Given the description of an element on the screen output the (x, y) to click on. 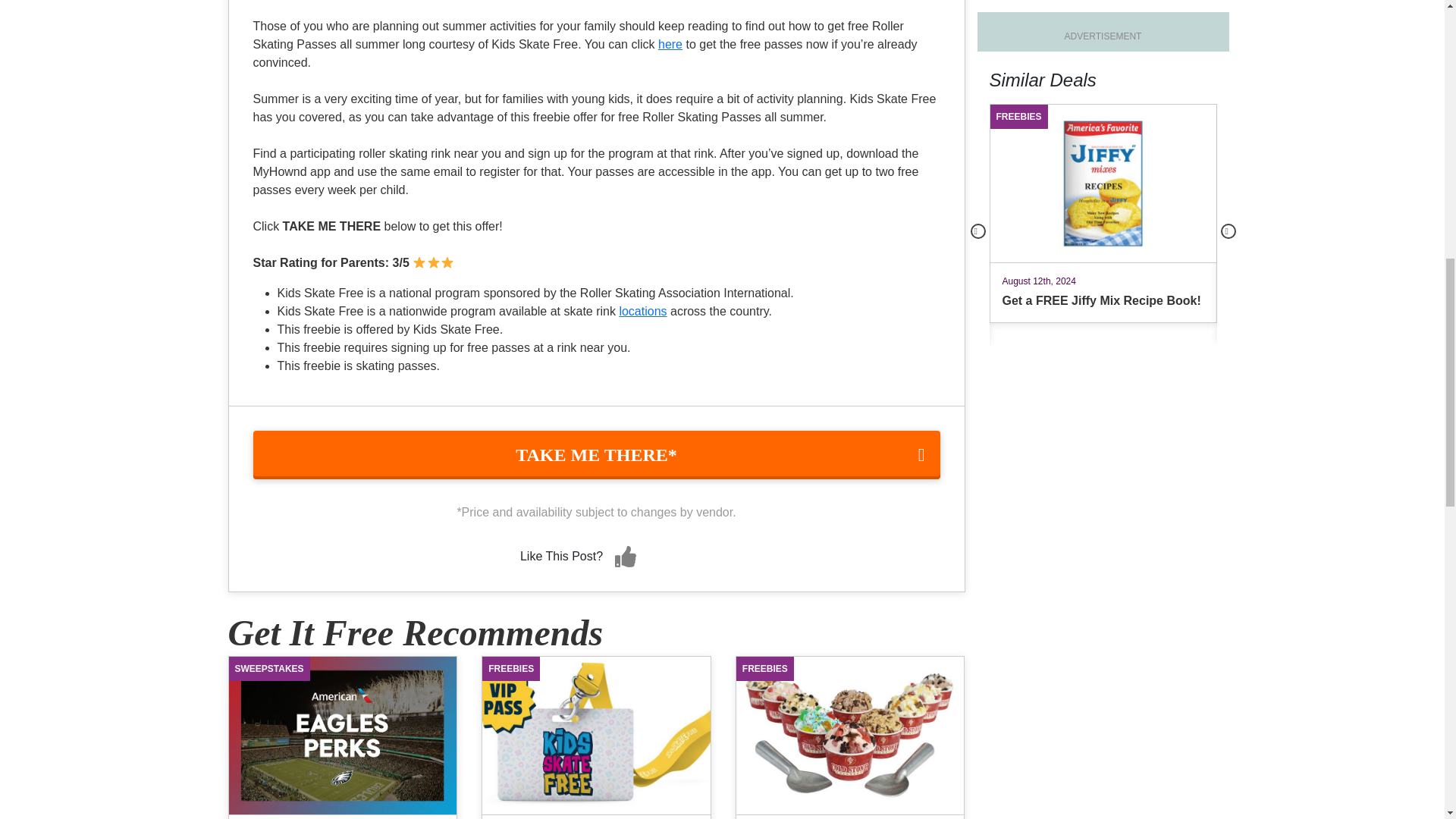
here (670, 43)
locations (642, 310)
